Given the description of an element on the screen output the (x, y) to click on. 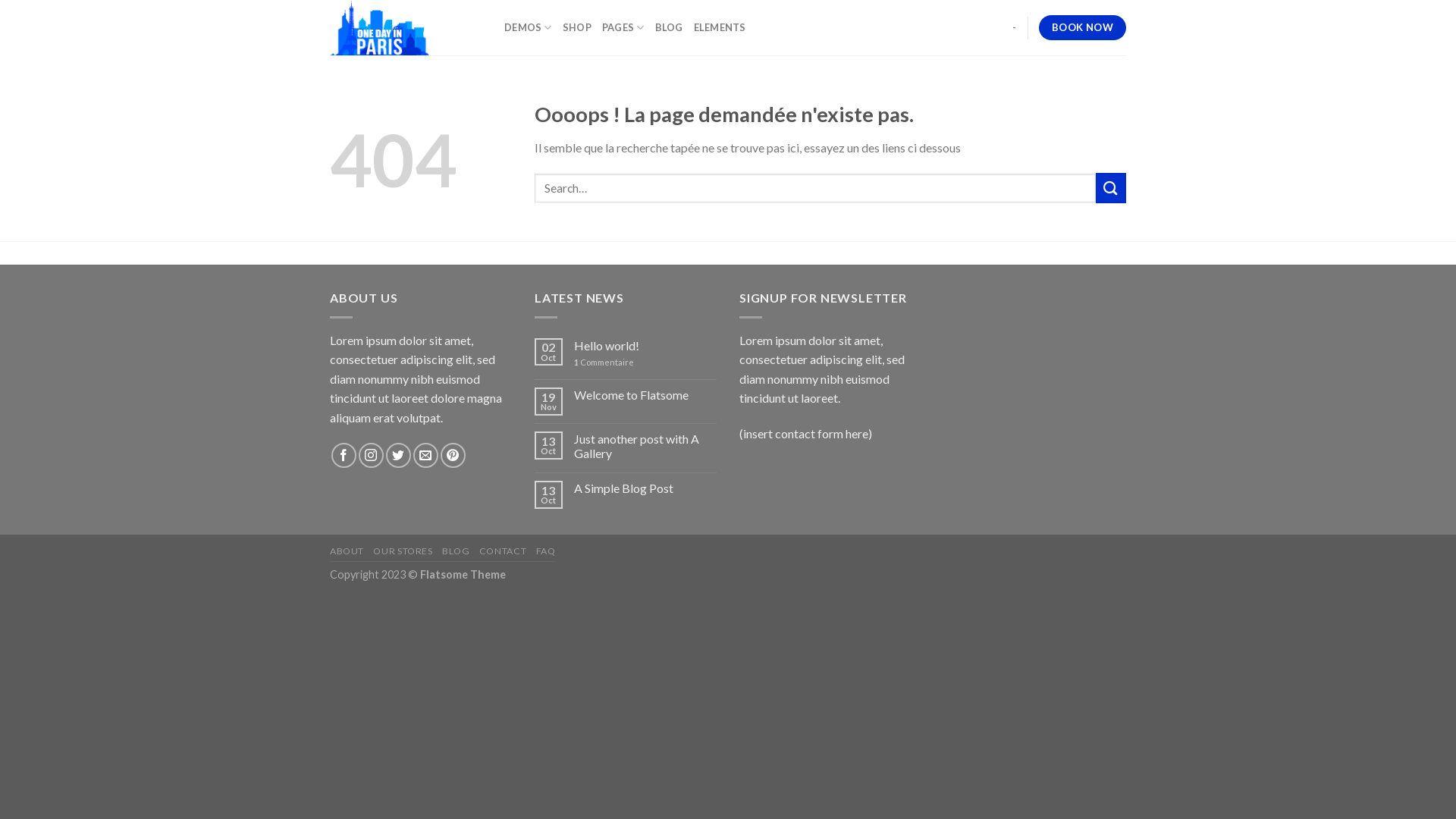
BOOK NOW Element type: text (1082, 27)
1dayinparis Element type: hover (405, 27)
ELEMENTS Element type: text (719, 27)
Just another post with A Gallery Element type: text (645, 445)
CONTACT Element type: text (502, 550)
Nous suivre sur Pinterest Element type: hover (452, 454)
SHOP Element type: text (576, 27)
PAGES Element type: text (623, 27)
Welcome to Flatsome Element type: text (645, 394)
Nous suivre sur Twitter Element type: hover (398, 454)
ABOUT Element type: text (346, 550)
BLOG Element type: text (669, 27)
Nous suivre sur Instagram Element type: hover (370, 454)
A Simple Blog Post Element type: text (645, 487)
1 Commentaire Element type: text (645, 362)
- Element type: text (1014, 27)
Nous envoyer un email Element type: hover (425, 454)
Hello world! Element type: text (645, 345)
BLOG Element type: text (455, 550)
OUR STORES Element type: text (402, 550)
DEMOS Element type: text (528, 27)
Nous suivre sur Facebook Element type: hover (343, 454)
FAQ Element type: text (545, 550)
